Given the description of an element on the screen output the (x, y) to click on. 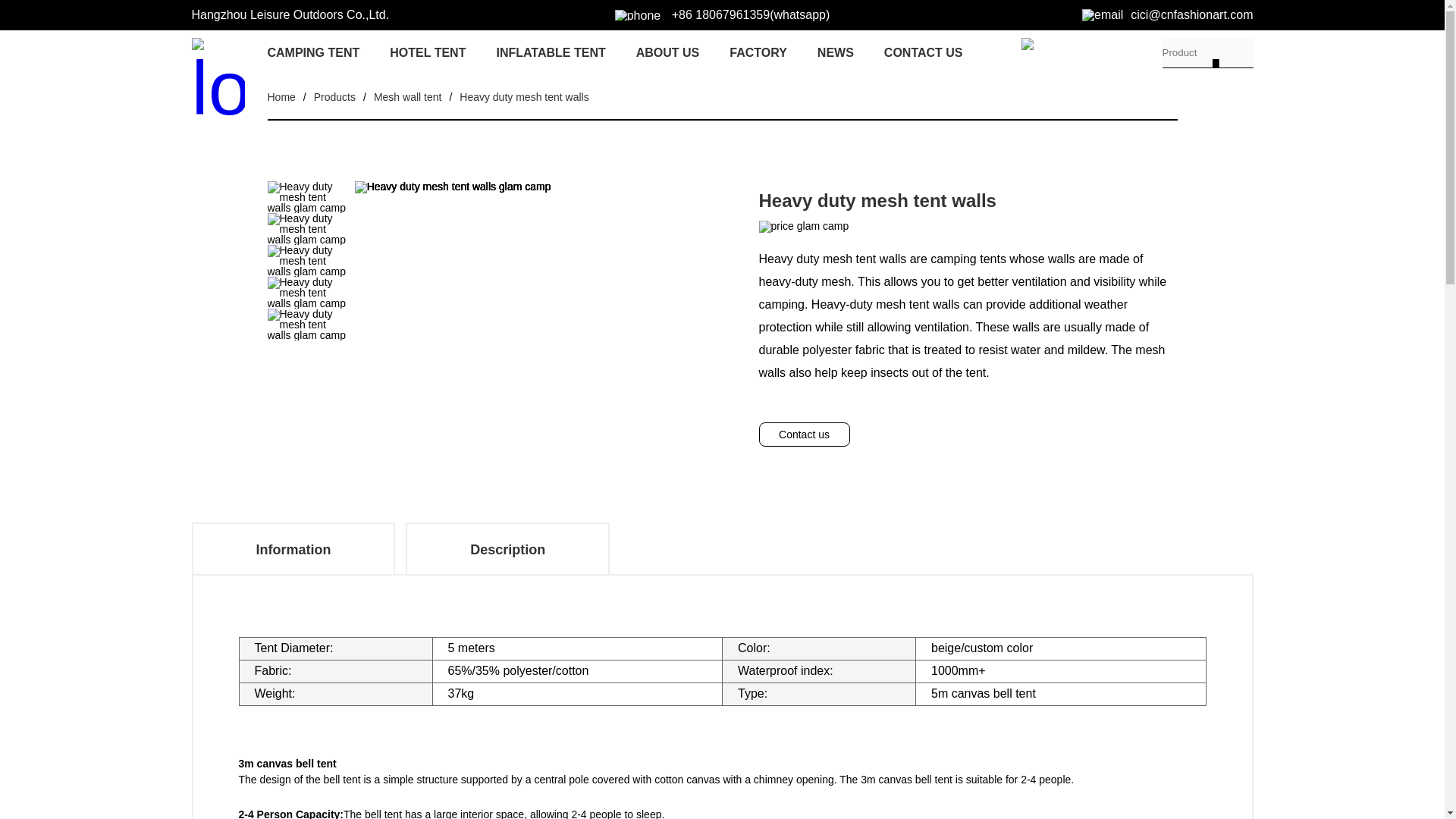
FACTORY (758, 53)
HOTEL TENT (427, 53)
NEWS (834, 53)
INFLATABLE TENT (550, 53)
CAMPING TENT (312, 53)
ABOUT US (668, 53)
